Given the description of an element on the screen output the (x, y) to click on. 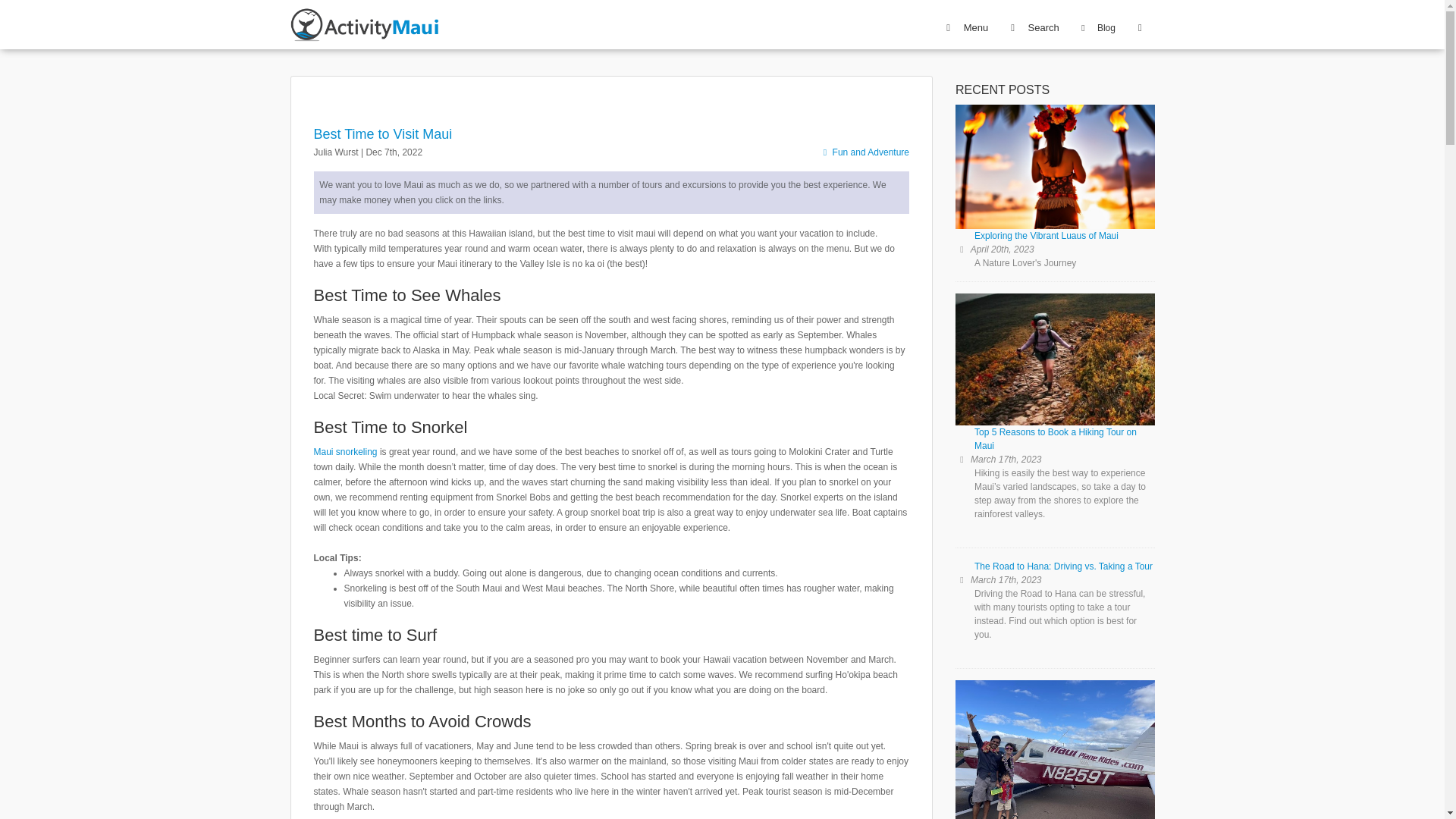
The Road to Hana: Driving vs. Taking a Tour (1054, 572)
Top 5 Reasons to Book a Hiking Tour on Maui (1054, 379)
  Menu (965, 27)
  Blog (1096, 27)
  Search (1032, 27)
Maui snorkeling (345, 451)
Exploring the Vibrant Luaus of Maui (1054, 179)
Home (315, 14)
 Fun and Adventure (863, 152)
9 Reasons We Love Maui Plane Rides (1054, 749)
